Given the description of an element on the screen output the (x, y) to click on. 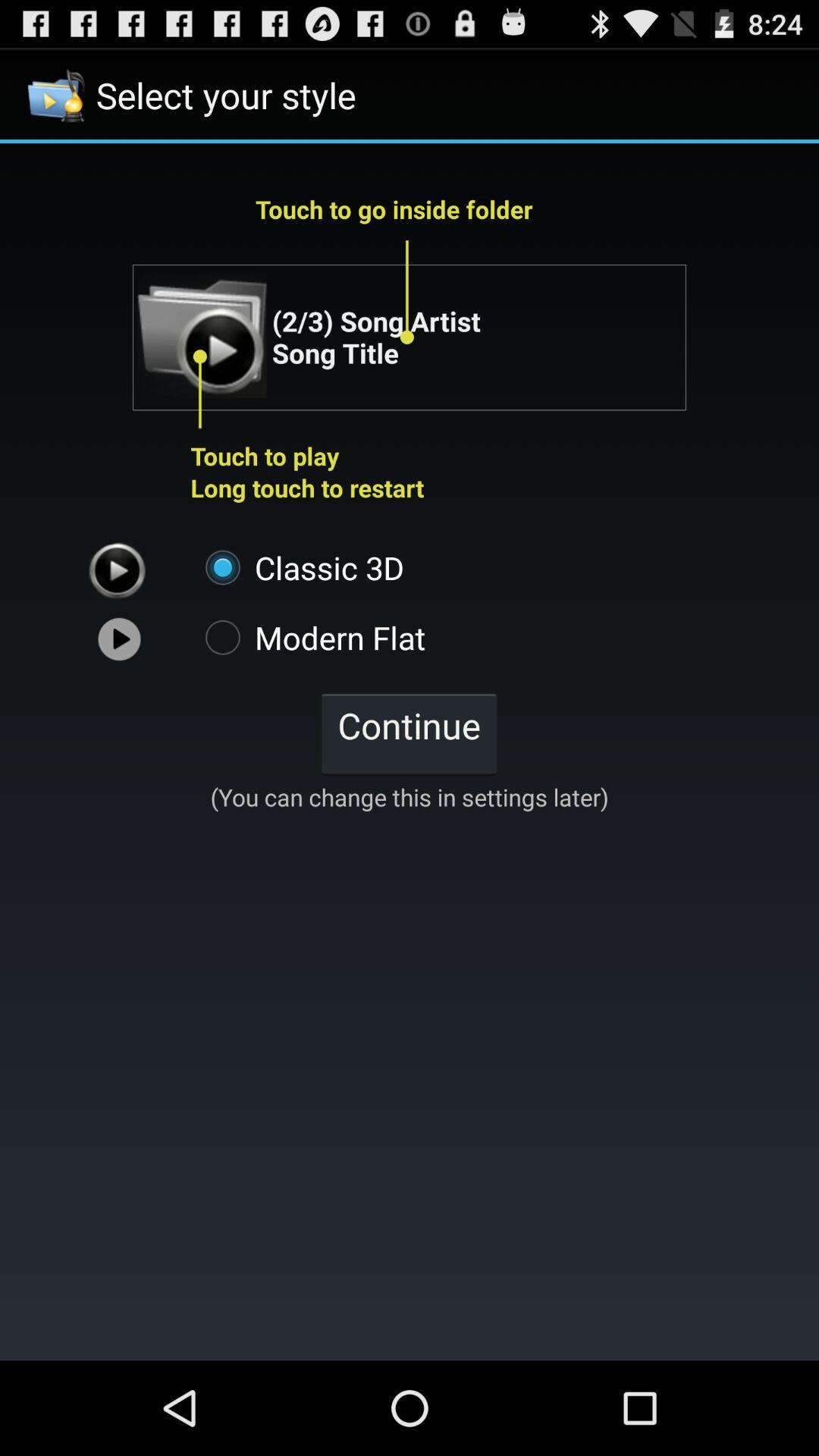
turn off the continue icon (408, 732)
